Given the description of an element on the screen output the (x, y) to click on. 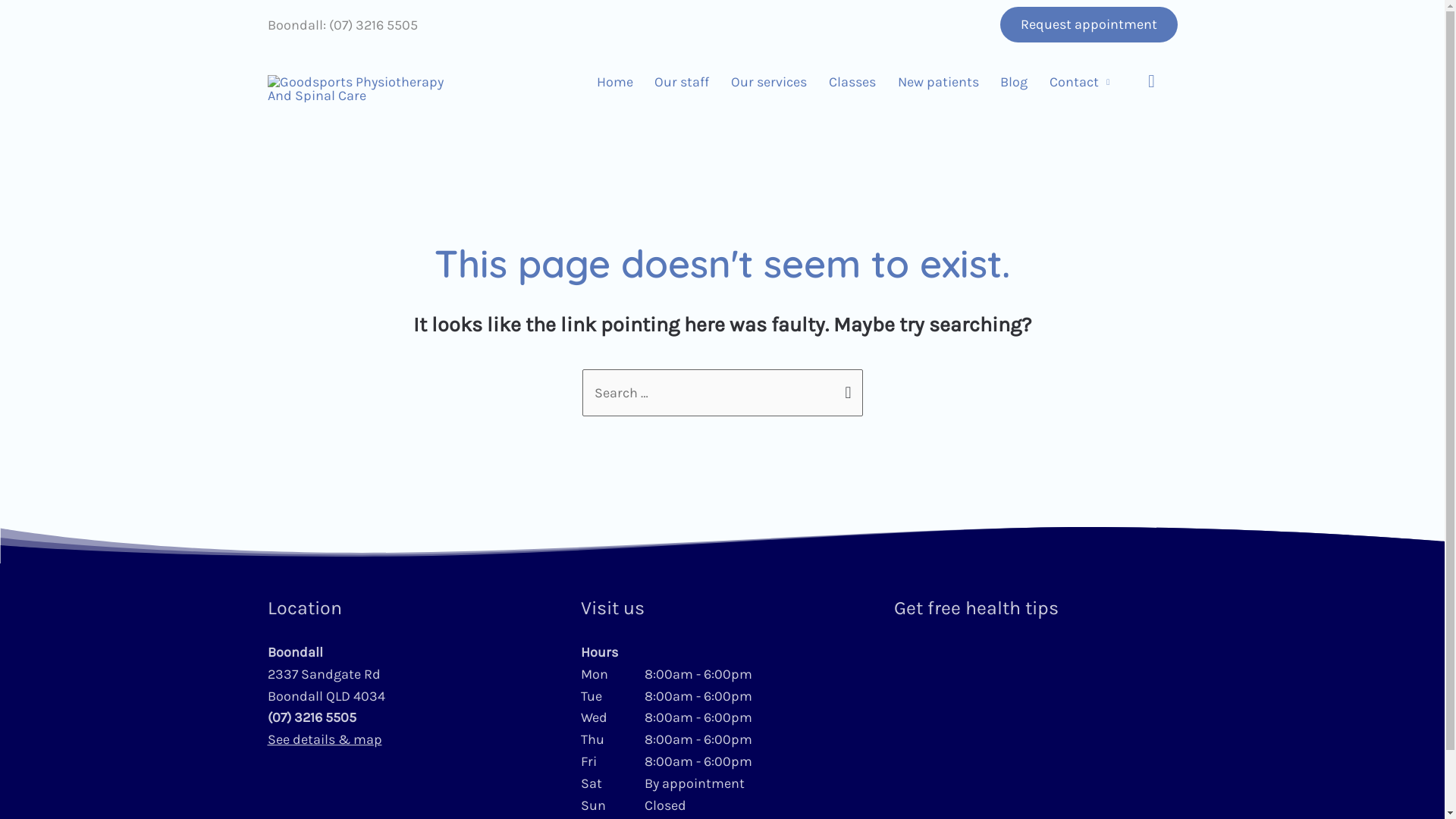
Home Element type: text (614, 81)
Search Element type: text (1149, 81)
Search Element type: text (845, 391)
Blog Element type: text (1013, 81)
Contact Element type: text (1079, 81)
Request appointment Element type: text (1087, 24)
Our staff Element type: text (681, 81)
Our services Element type: text (769, 81)
(07) 3216 5505 Element type: text (310, 717)
See details & map Element type: text (323, 739)
Boondall Element type: text (294, 24)
(07) 3216 5505 Element type: text (373, 24)
New patients Element type: text (937, 81)
Classes Element type: text (851, 81)
